Given the description of an element on the screen output the (x, y) to click on. 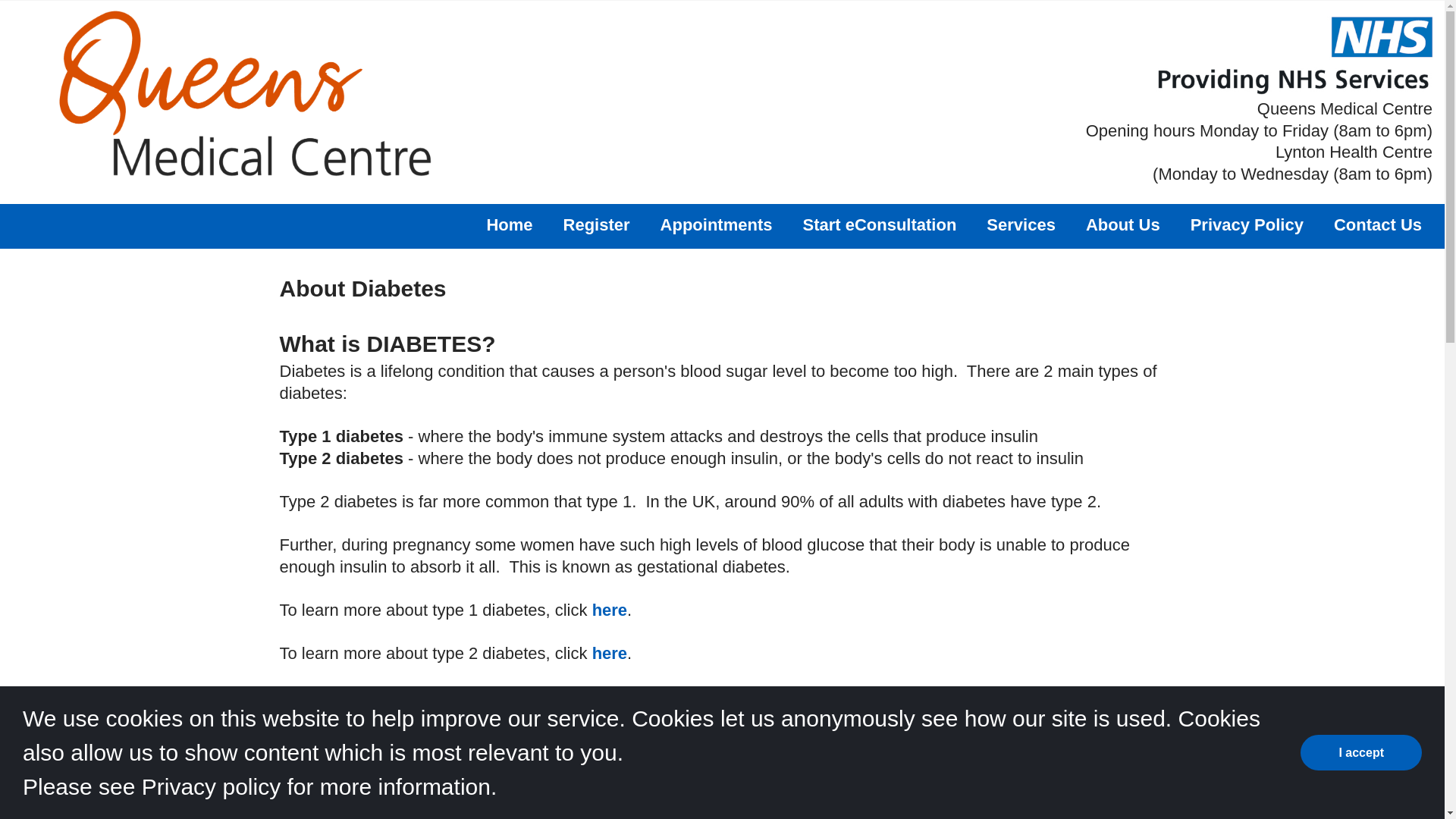
Privacy Policy (1247, 224)
Register (596, 224)
Services (1021, 224)
Start eConsultation (879, 224)
Contact Us (1377, 224)
Providing NHS Service (1293, 55)
here (609, 609)
Home (509, 224)
Appointments (717, 224)
About Us (1123, 224)
